Given the description of an element on the screen output the (x, y) to click on. 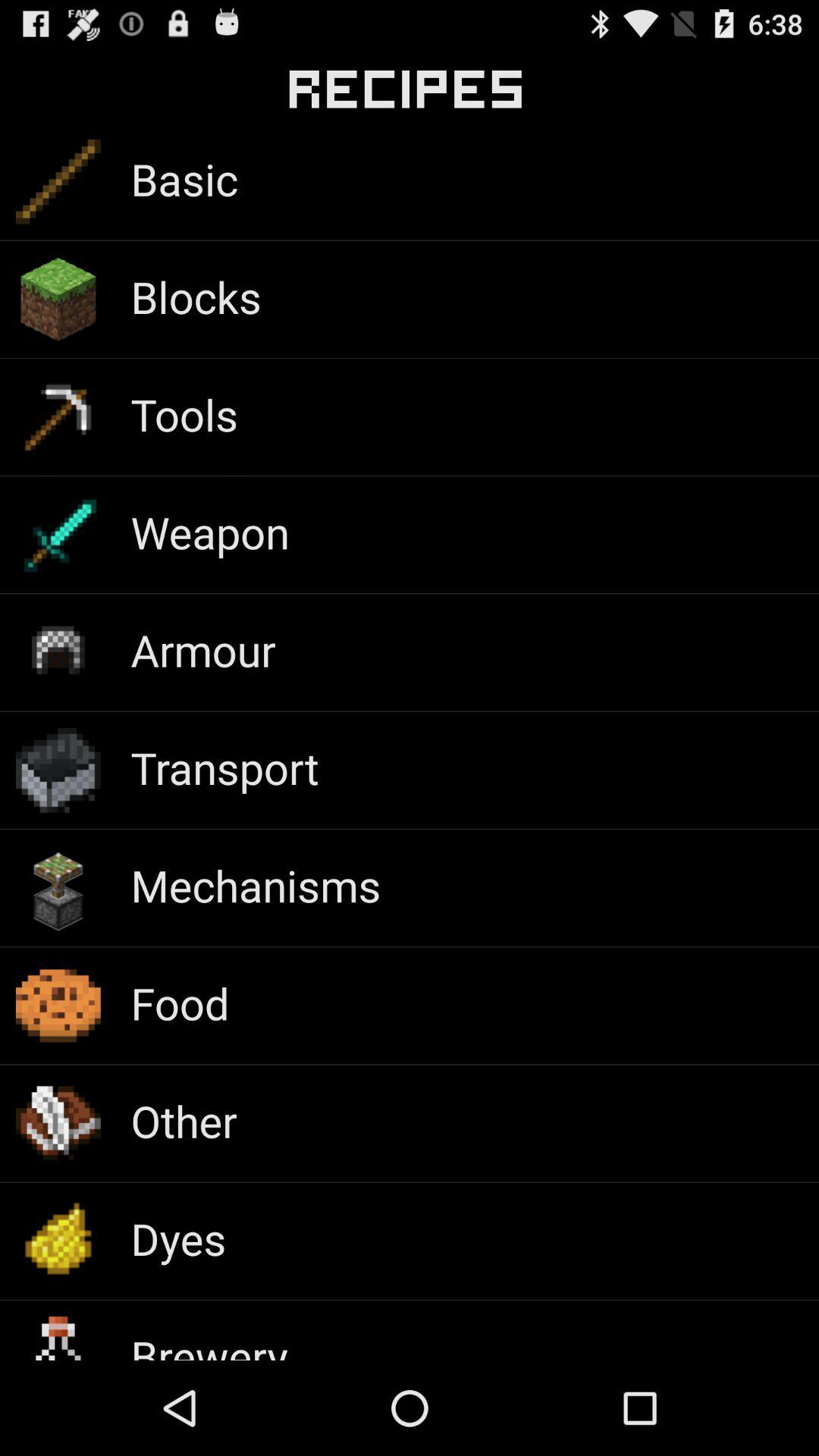
choose app above mechanisms (224, 767)
